Given the description of an element on the screen output the (x, y) to click on. 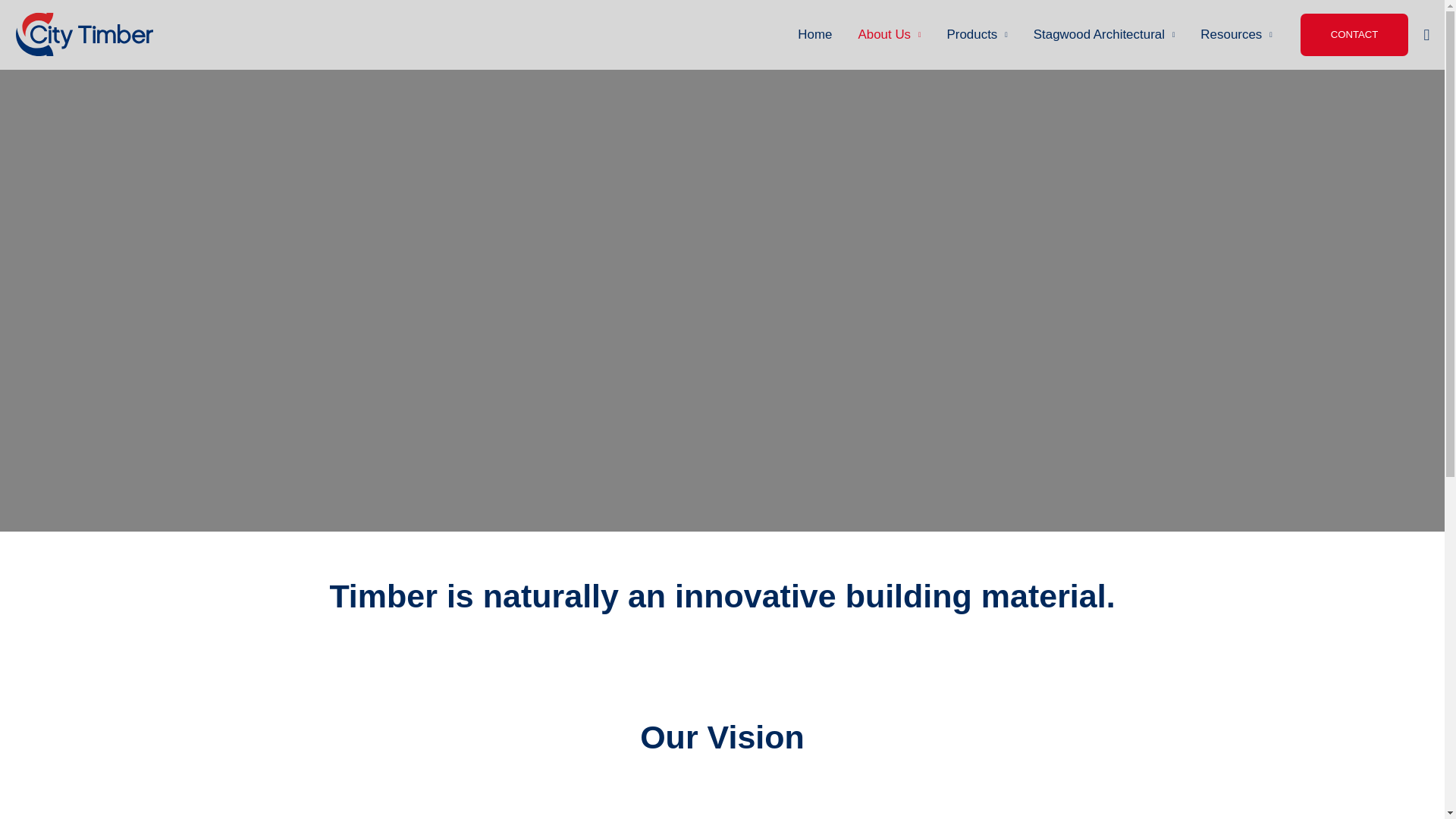
Resources (1236, 34)
CONTACT (1354, 34)
About Us (888, 34)
Products (977, 34)
Home (814, 34)
Stagwood Architectural (1104, 34)
